Given the description of an element on the screen output the (x, y) to click on. 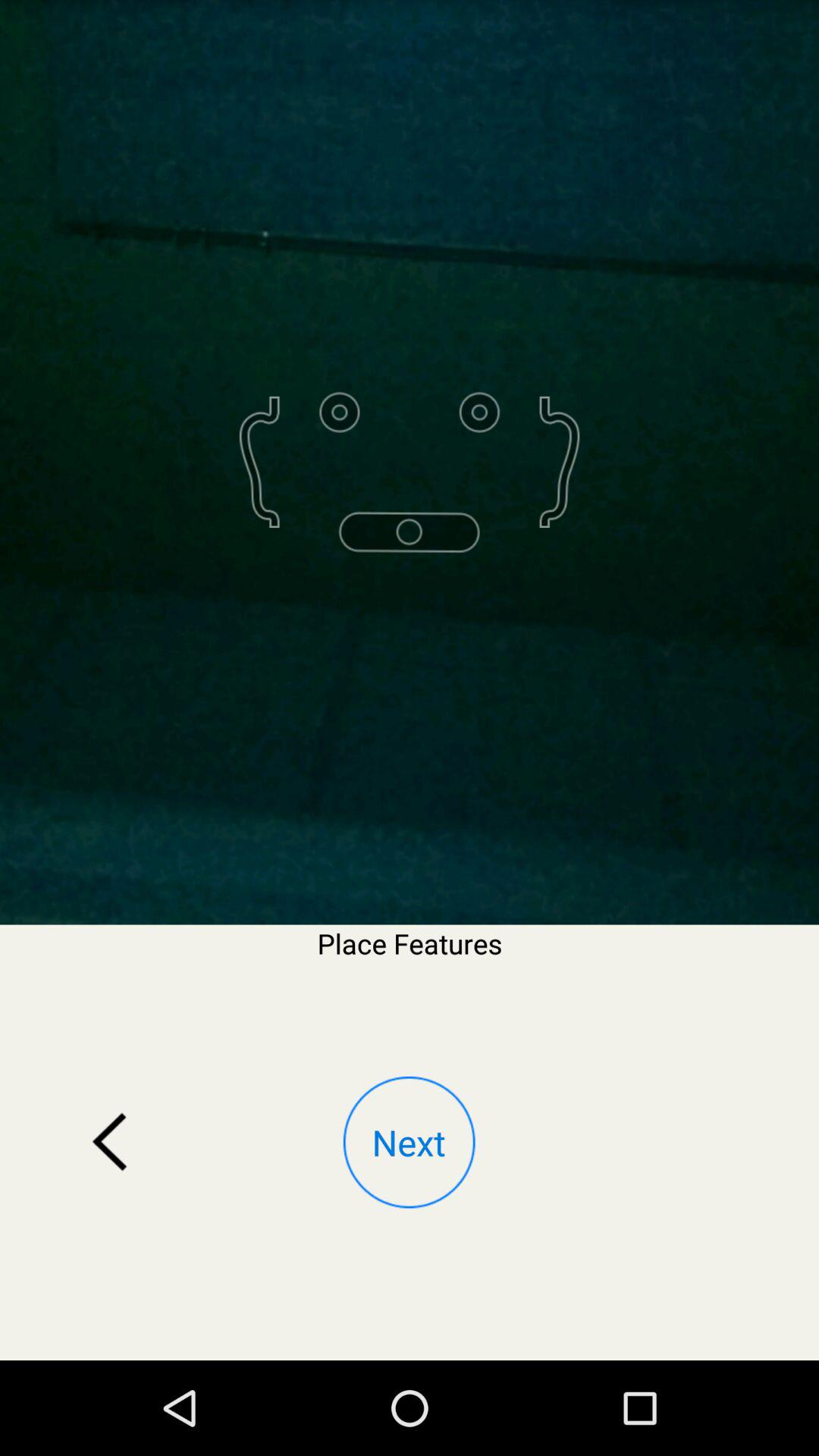
choose icon at the bottom left corner (109, 1142)
